Given the description of an element on the screen output the (x, y) to click on. 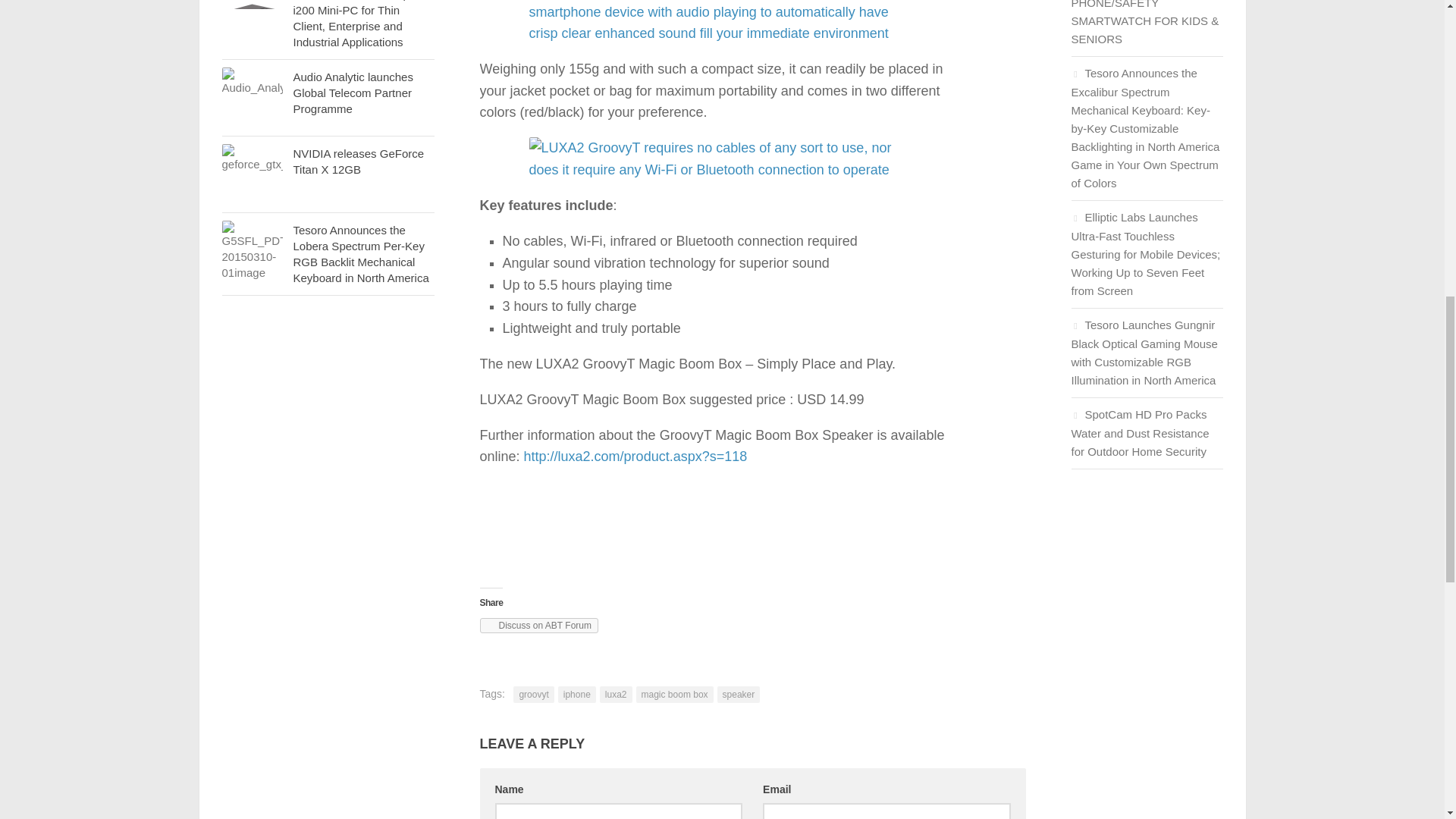
iphone (576, 694)
magic boom box (674, 694)
NVIDIA releases GeForce Titan X 12GB (251, 174)
NVIDIA releases GeForce Titan X 12GB (357, 161)
Discuss on ABT Forum (537, 625)
luxa2 (615, 694)
Click to share on Discuss on ABT Forum (537, 625)
Audio Analytic launches Global Telecom Partner Programme (251, 97)
speaker (738, 694)
Audio Analytic launches Global Telecom Partner Programme (352, 92)
groovyt (533, 694)
